Given the description of an element on the screen output the (x, y) to click on. 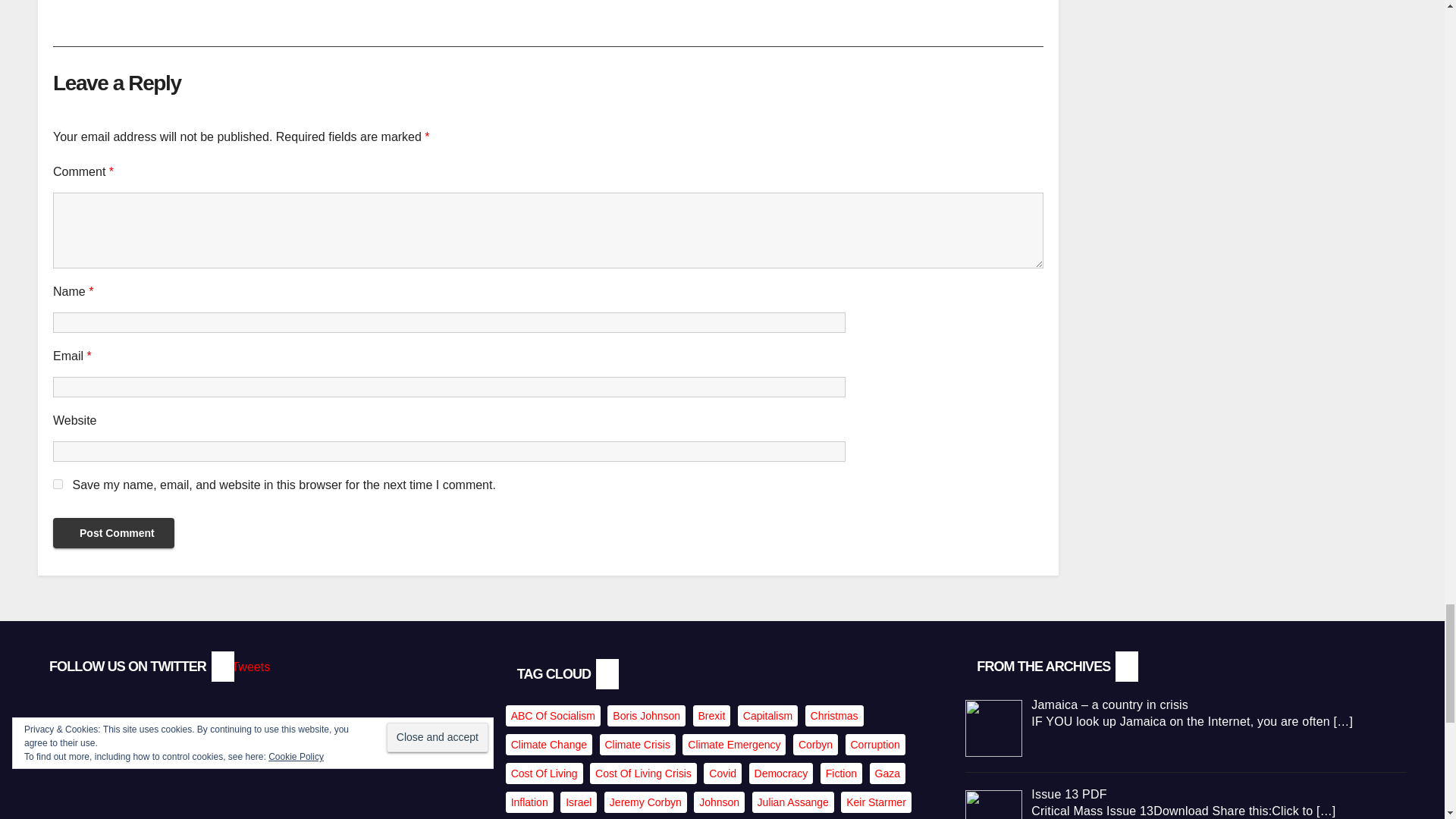
Post Comment (113, 532)
yes (57, 483)
